Given the description of an element on the screen output the (x, y) to click on. 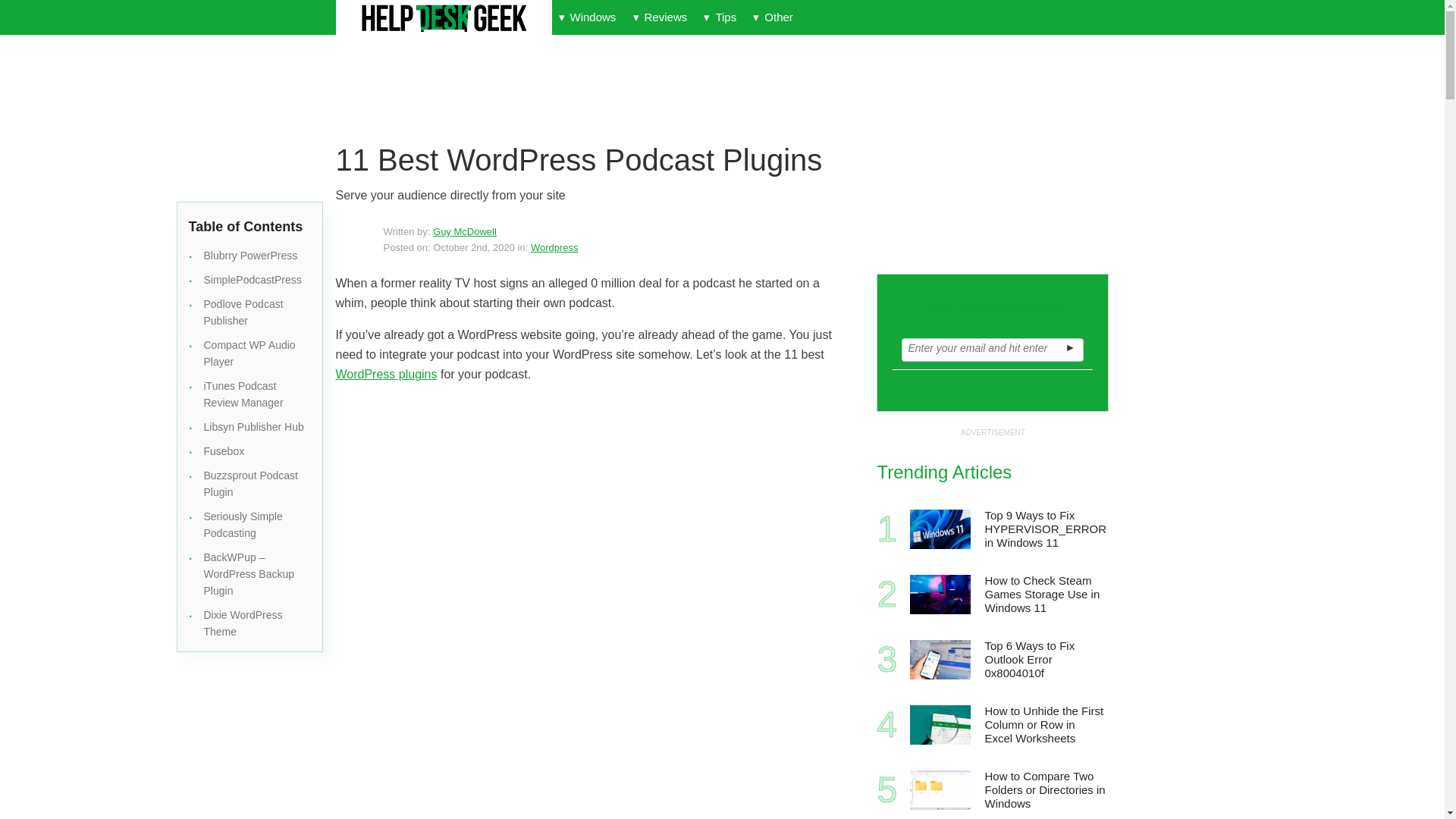
How to Compare Two Folders or Directories in Windows (1044, 790)
Windows (587, 17)
Friday, October 2, 2020, 6:00 am (473, 247)
Top 6 Ways to Fix Outlook Error 0x8004010f (1044, 659)
Top 6 Ways to Fix Outlook Error 0x8004010f (940, 659)
How to Check Steam Games Storage Use in Windows 11 (1044, 594)
How to Check Steam Games Storage Use in Windows 11 (940, 594)
How to Unhide the First Column or Row in Excel Worksheets (1044, 724)
Other (772, 17)
Help Desk Geek (443, 17)
